Given the description of an element on the screen output the (x, y) to click on. 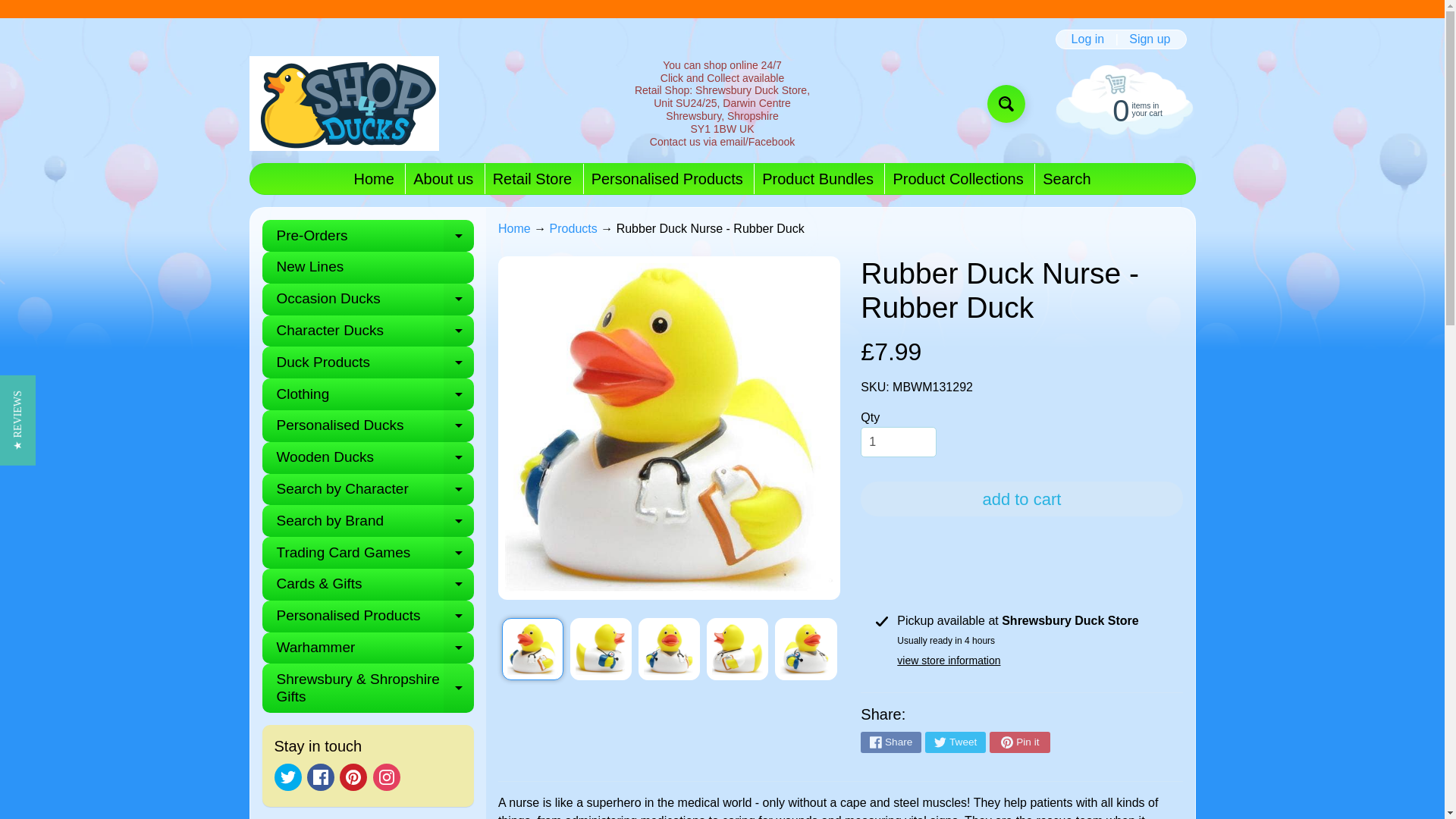
Back to the home page (514, 228)
Tweet on Twitter (954, 742)
Share on Facebook (890, 742)
expand child menu (459, 299)
expand child menu (459, 235)
Rubber Duck Nurse - Rubber Duck (532, 648)
New Lines (368, 267)
Rubber Duck Nurse - Rubber Duck (804, 648)
Search (1066, 178)
Facebook (320, 777)
